Given the description of an element on the screen output the (x, y) to click on. 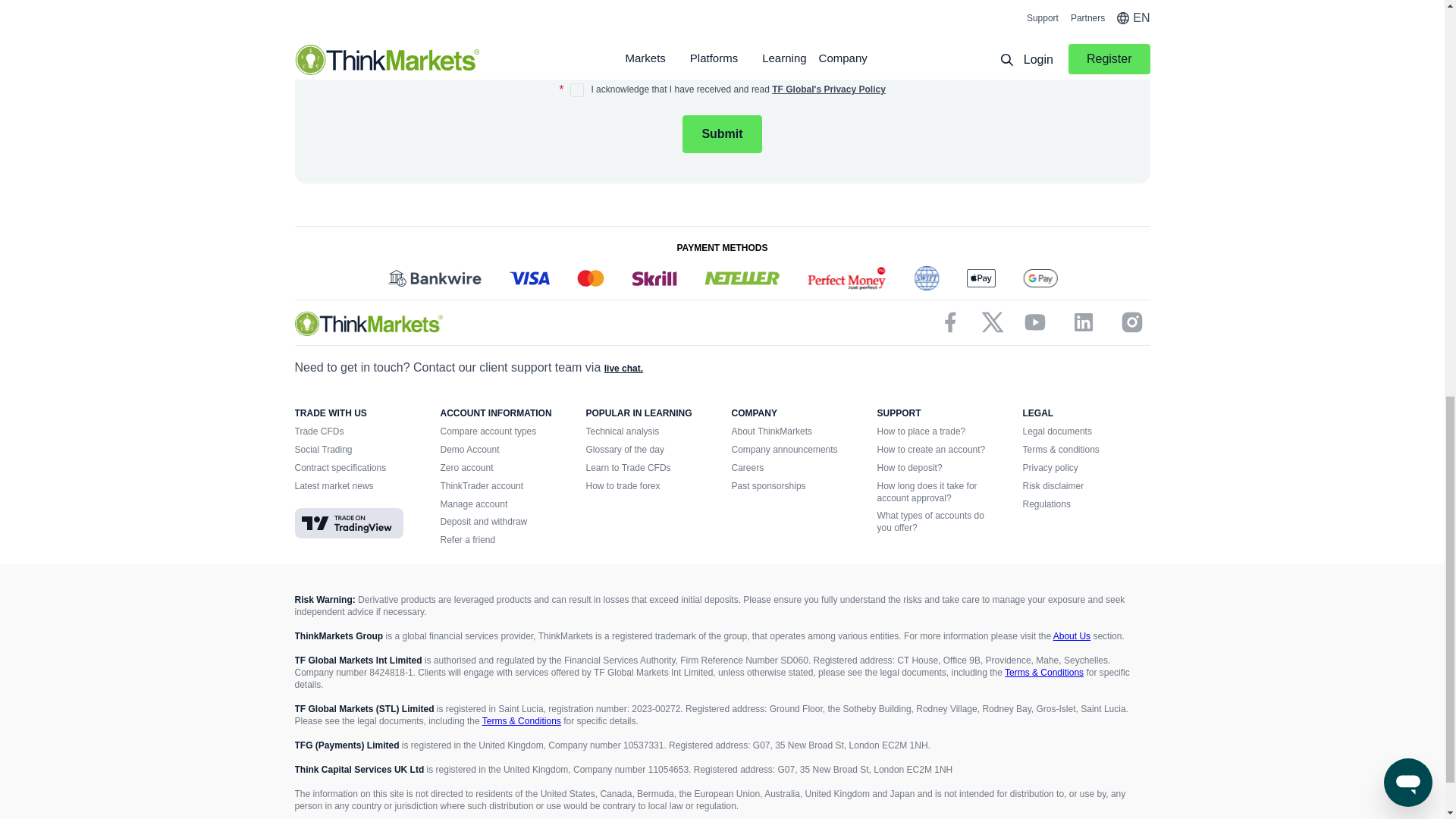
on (577, 90)
